Given the description of an element on the screen output the (x, y) to click on. 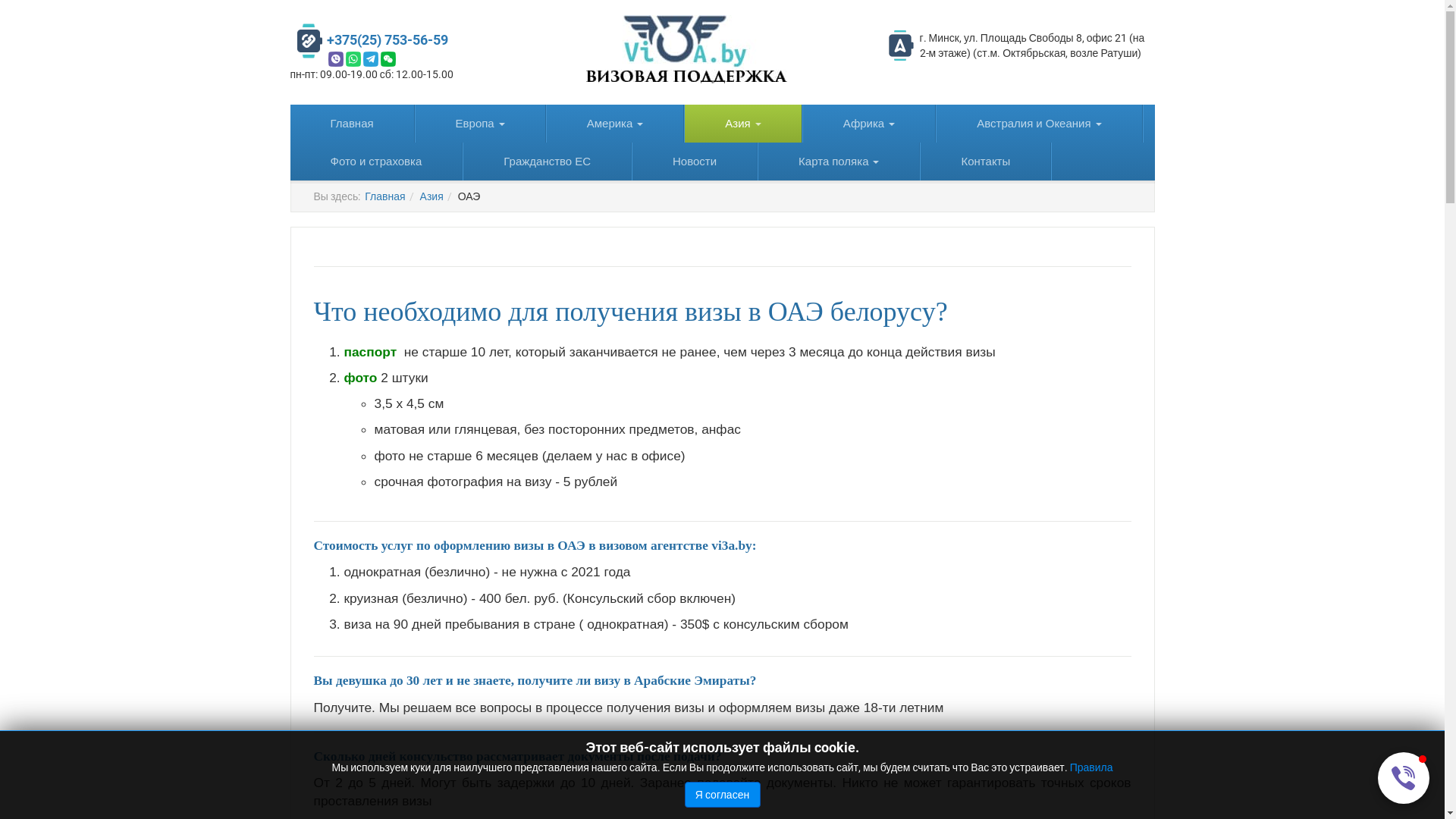
Logo Element type: hover (685, 49)
telegram Element type: text (369, 58)
wechat Element type: text (387, 58)
Wa Element type: text (352, 58)
+375(25) 753-56-59 Element type: text (386, 39)
Viber Element type: text (334, 58)
